Given the description of an element on the screen output the (x, y) to click on. 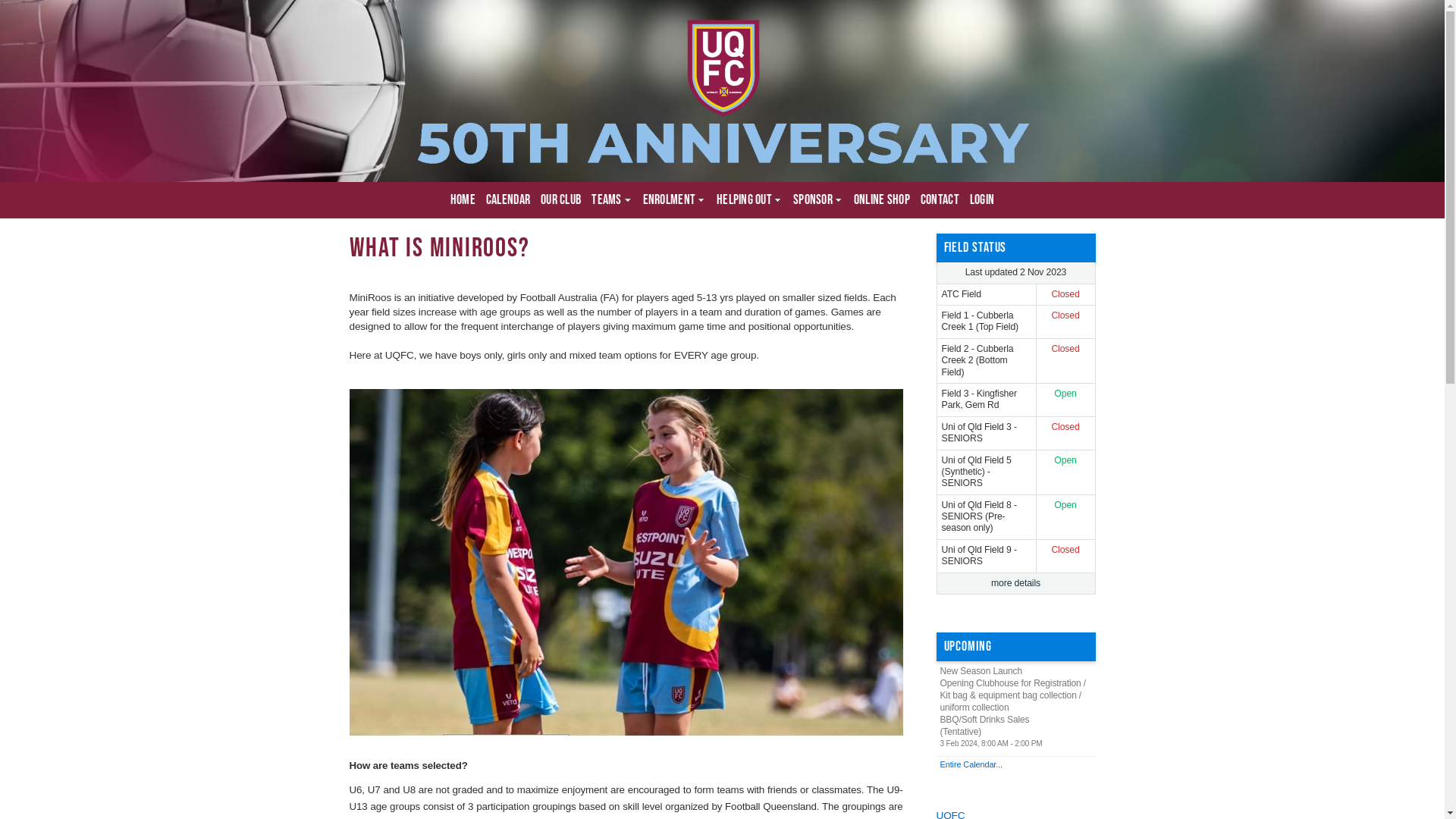
Entire Calendar... Element type: text (1015, 764)
TEAMS Element type: text (611, 200)
ENROLMENT Element type: text (674, 200)
CALENDAR Element type: text (507, 200)
CONTACT Element type: text (939, 200)
HOME Element type: text (462, 200)
more details Element type: text (1015, 583)
LOGIN Element type: text (981, 200)
ONLINE SHOP Element type: text (881, 200)
OUR CLUB Element type: text (560, 200)
HELPING OUT Element type: text (749, 200)
SPONSOR Element type: text (817, 200)
